Given the description of an element on the screen output the (x, y) to click on. 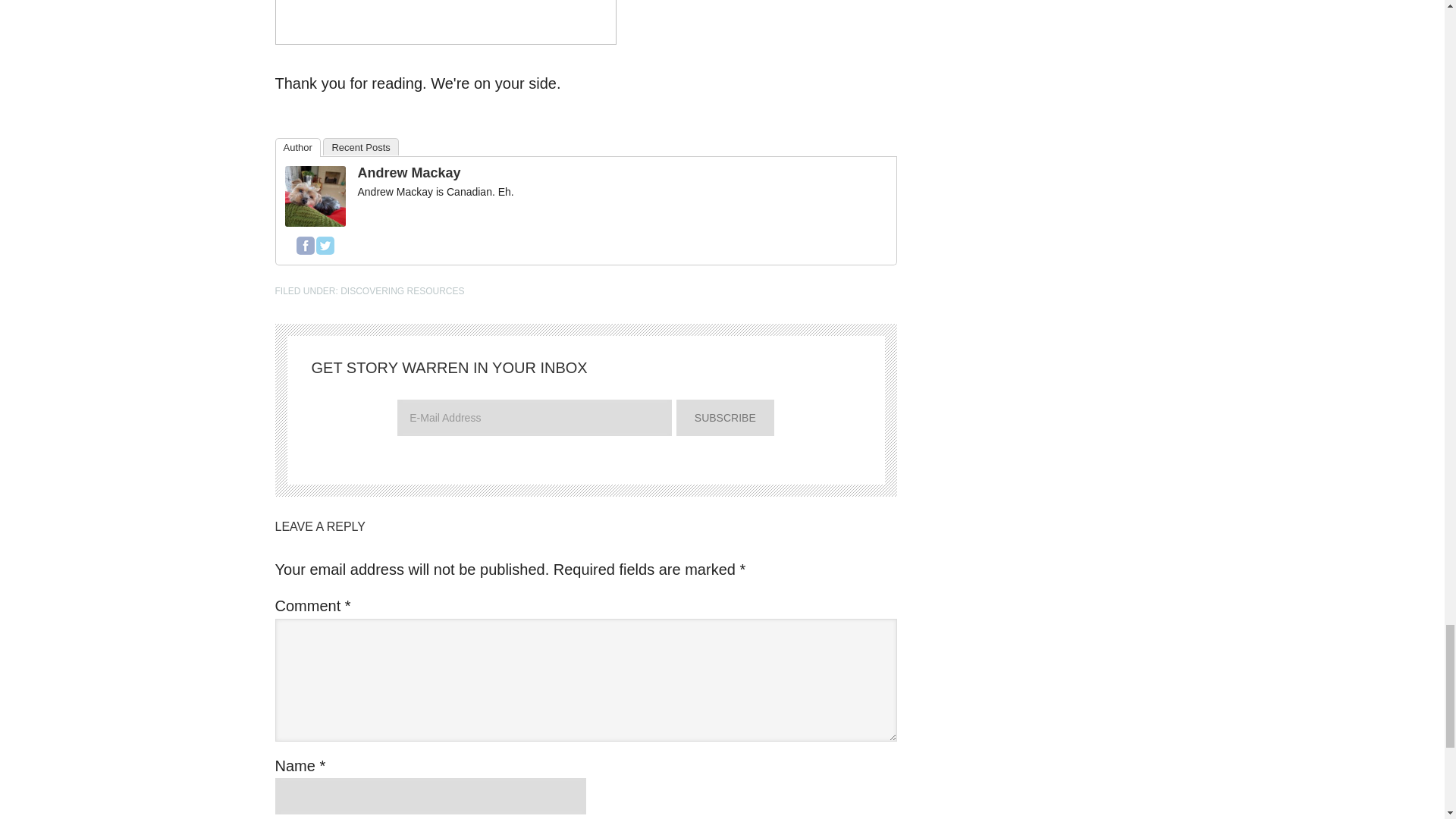
Author (297, 147)
Facebook (304, 245)
Recent Posts (360, 146)
Twitter (324, 245)
Subscribe (725, 417)
Andrew Mackay (315, 221)
